Given the description of an element on the screen output the (x, y) to click on. 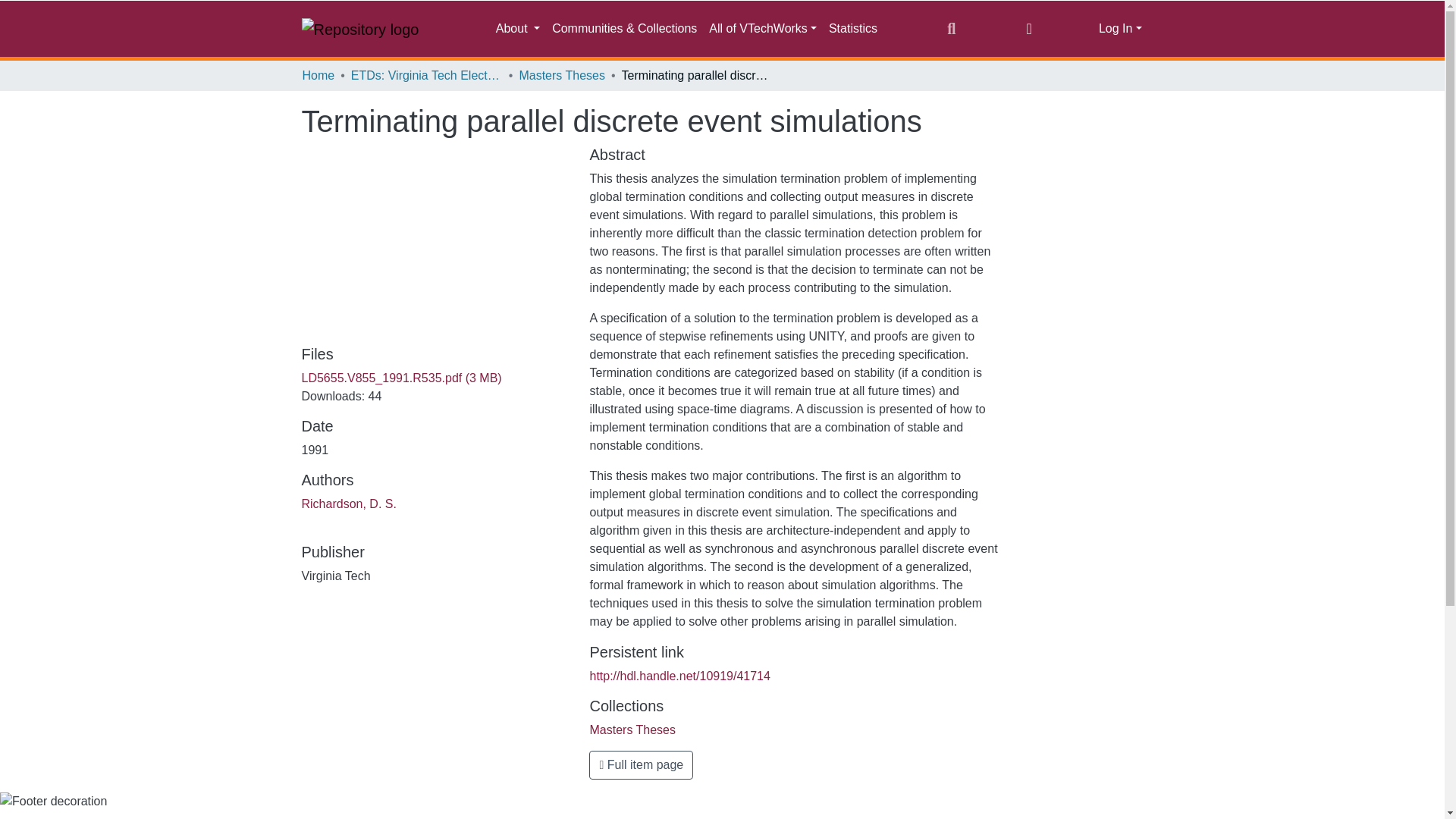
Masters Theses (632, 729)
Masters Theses (561, 75)
Log In (1119, 28)
Home (317, 75)
Full item page (641, 765)
Richardson, D. S. (348, 503)
About (517, 28)
Search (951, 28)
Language switch (1029, 28)
ETDs: Virginia Tech Electronic Theses and Dissertations (426, 75)
